Given the description of an element on the screen output the (x, y) to click on. 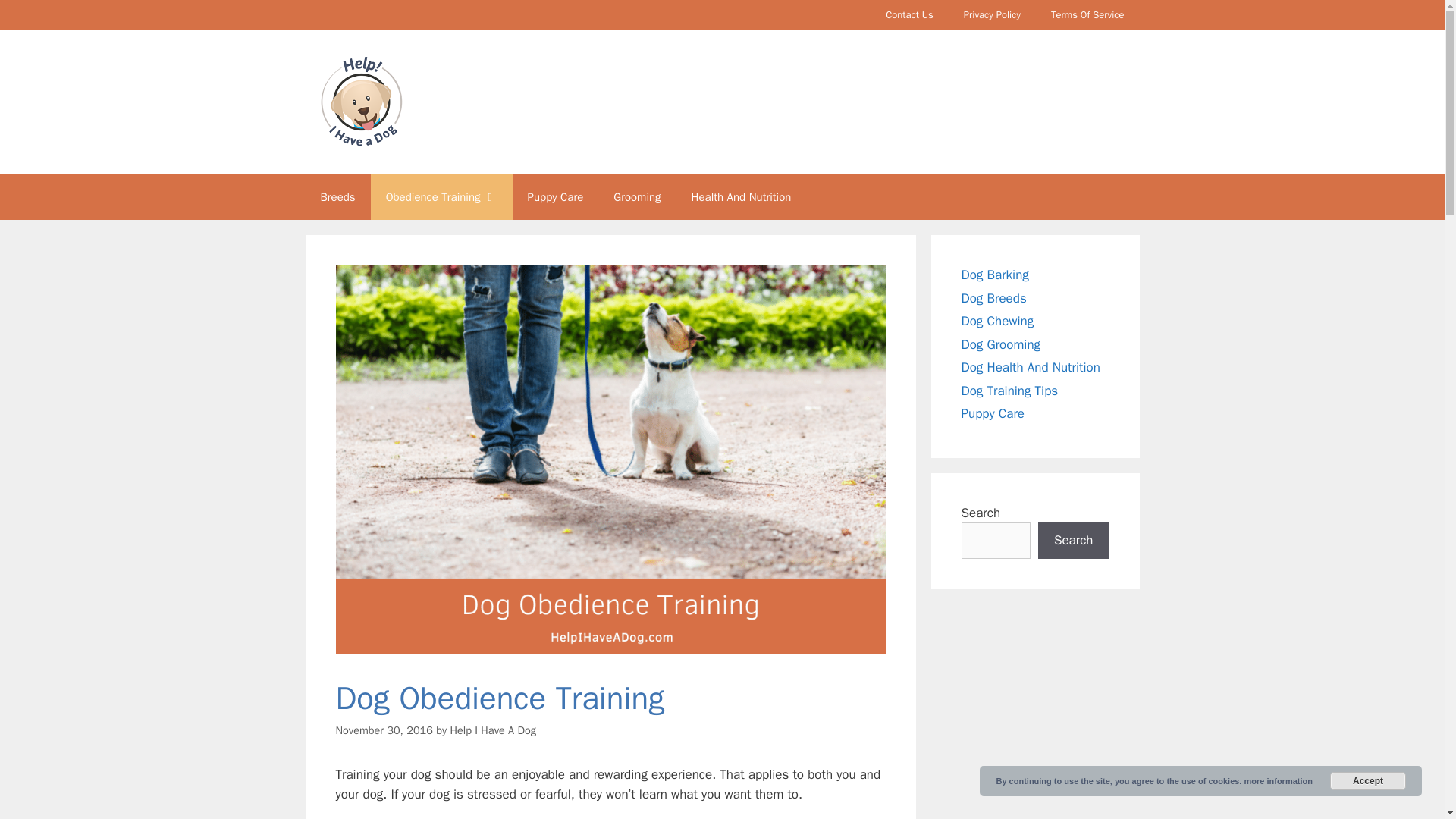
Accept (1368, 781)
Grooming (636, 197)
All about dog grooming (636, 197)
Dog breed information (336, 197)
Dog Chewing (996, 320)
Help I Have A Dog (492, 730)
Dog Breeds (993, 297)
Puppy Care (992, 413)
Dog obedience training tips and guides (441, 197)
Puppy Care (555, 197)
View all posts by Help I Have A Dog (492, 730)
Advice on dog health and dog nutrition (741, 197)
Dog Grooming (1000, 344)
Dog Training Tips (1009, 390)
Looking after a new puppy (555, 197)
